Given the description of an element on the screen output the (x, y) to click on. 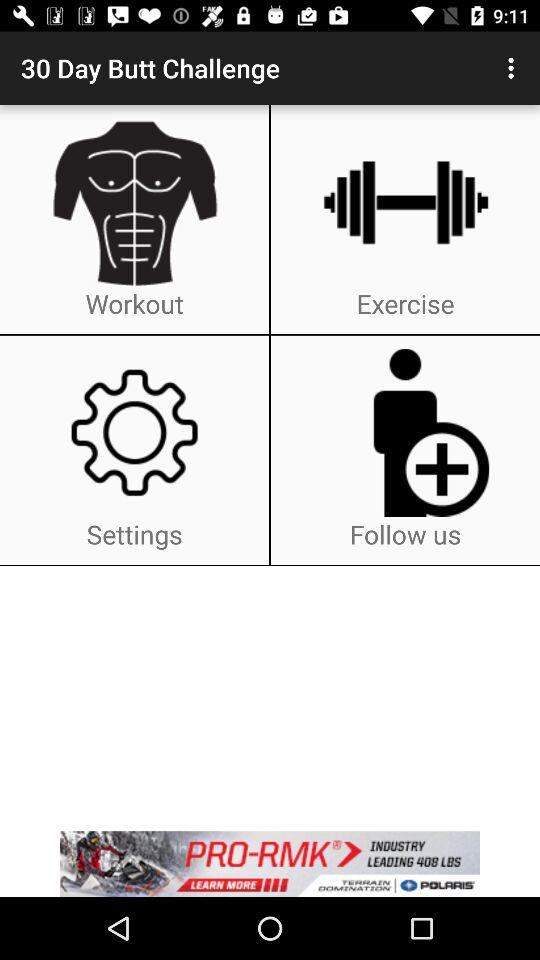
add the option (270, 864)
